Given the description of an element on the screen output the (x, y) to click on. 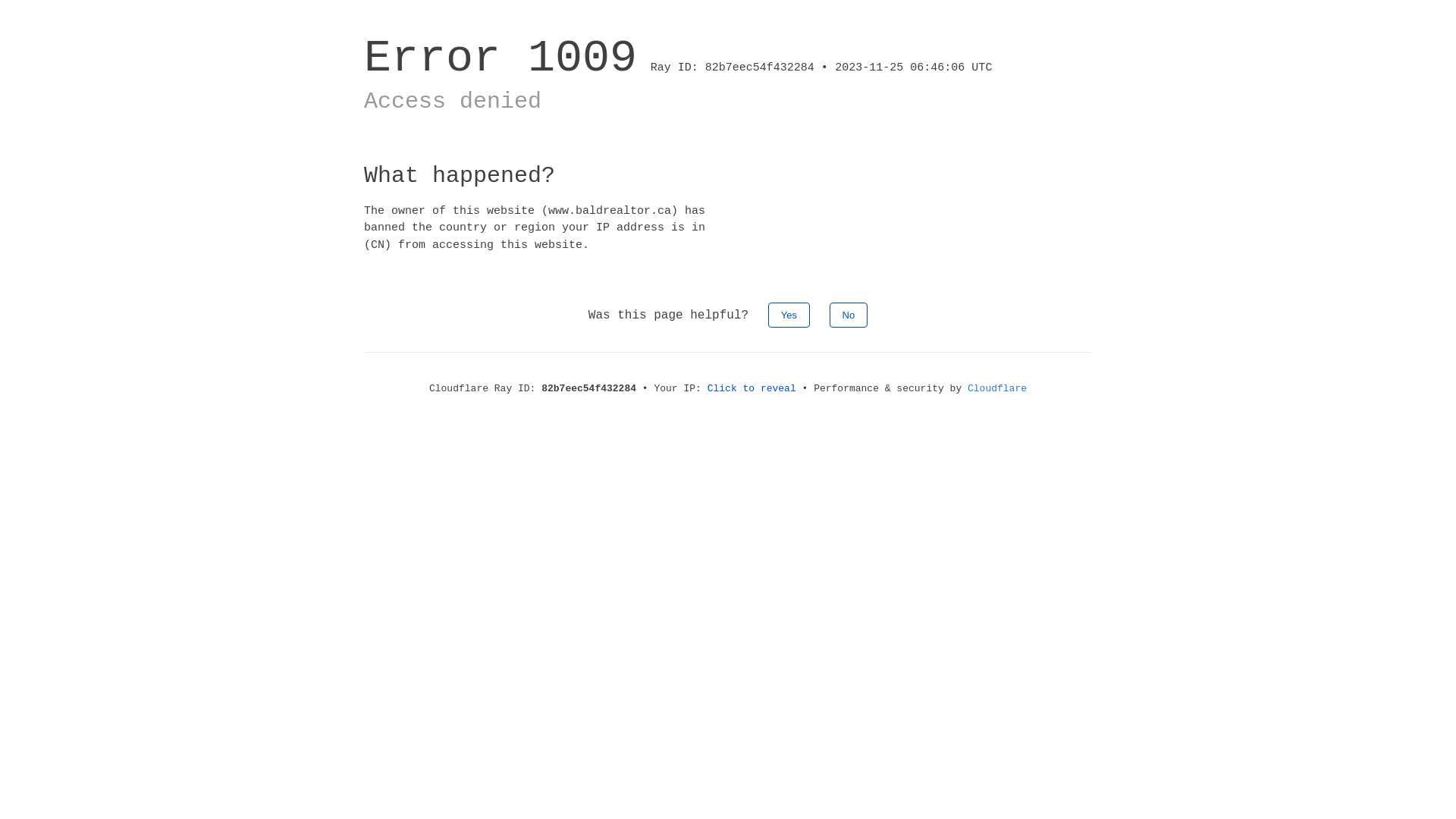
Yes Element type: text (788, 314)
Click to reveal Element type: text (751, 388)
No Element type: text (848, 314)
Cloudflare Element type: text (996, 388)
